Given the description of an element on the screen output the (x, y) to click on. 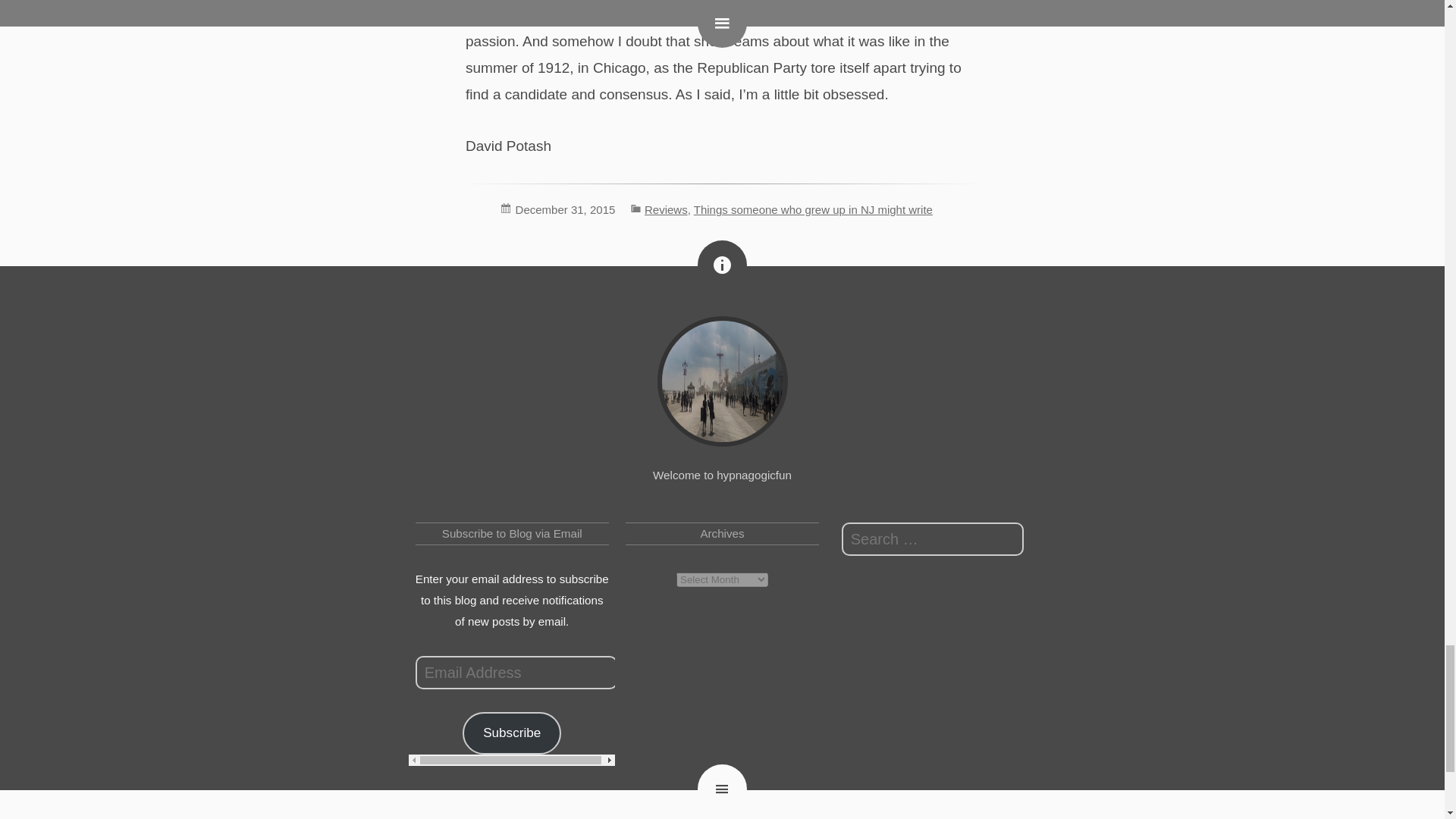
Search for: (932, 539)
hypnagogicfun (721, 381)
